Given the description of an element on the screen output the (x, y) to click on. 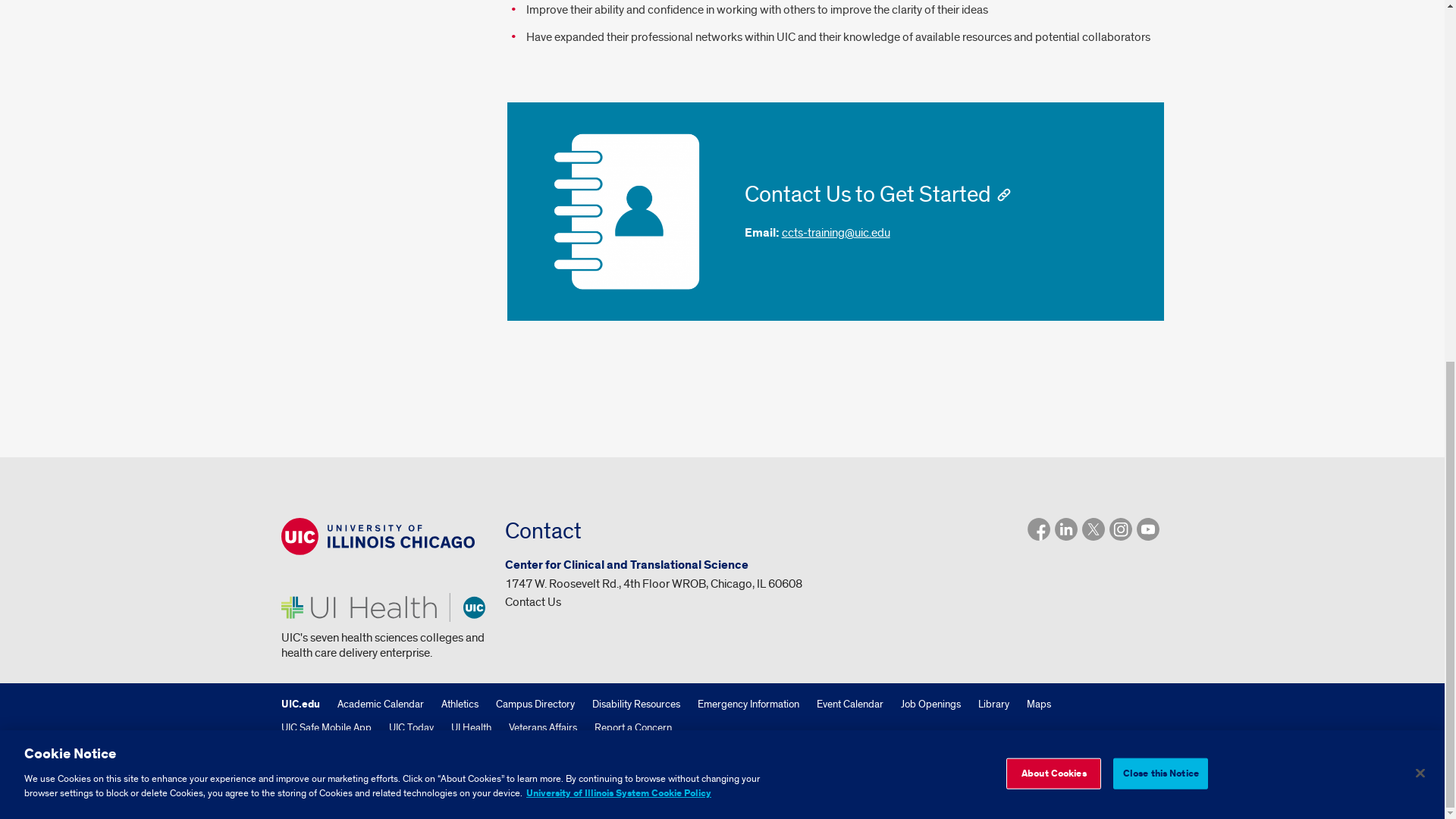
Linked In (1065, 528)
X (1092, 528)
YouTube (1146, 528)
University of Illinois Chicago (377, 536)
Instagram (1119, 528)
Facebook (1037, 528)
